Given the description of an element on the screen output the (x, y) to click on. 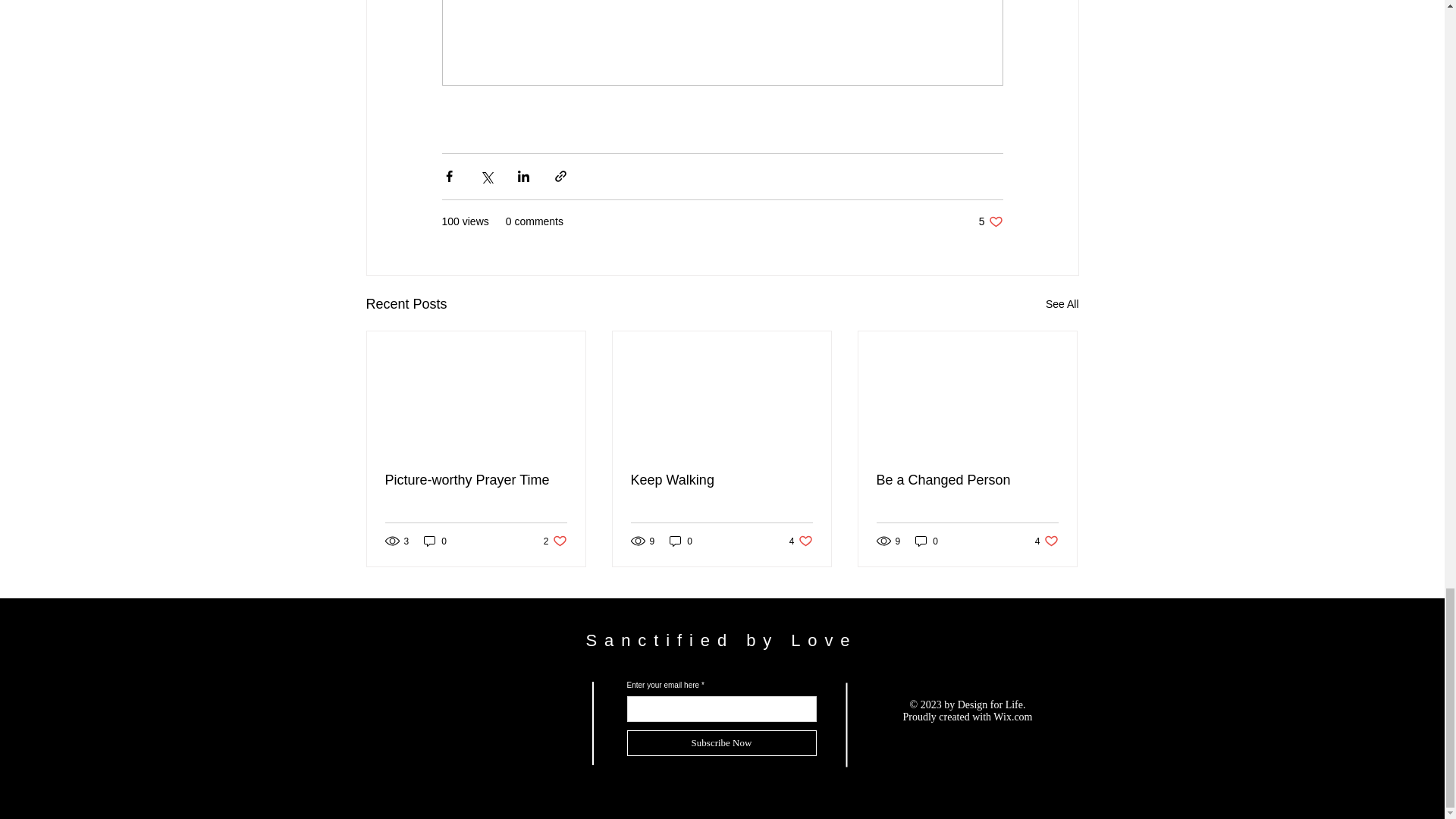
Subscribe Now (720, 742)
0 (435, 540)
Be a Changed Person (1046, 540)
Keep Walking (967, 480)
See All (800, 540)
0 (721, 480)
0 (1061, 304)
